Given the description of an element on the screen output the (x, y) to click on. 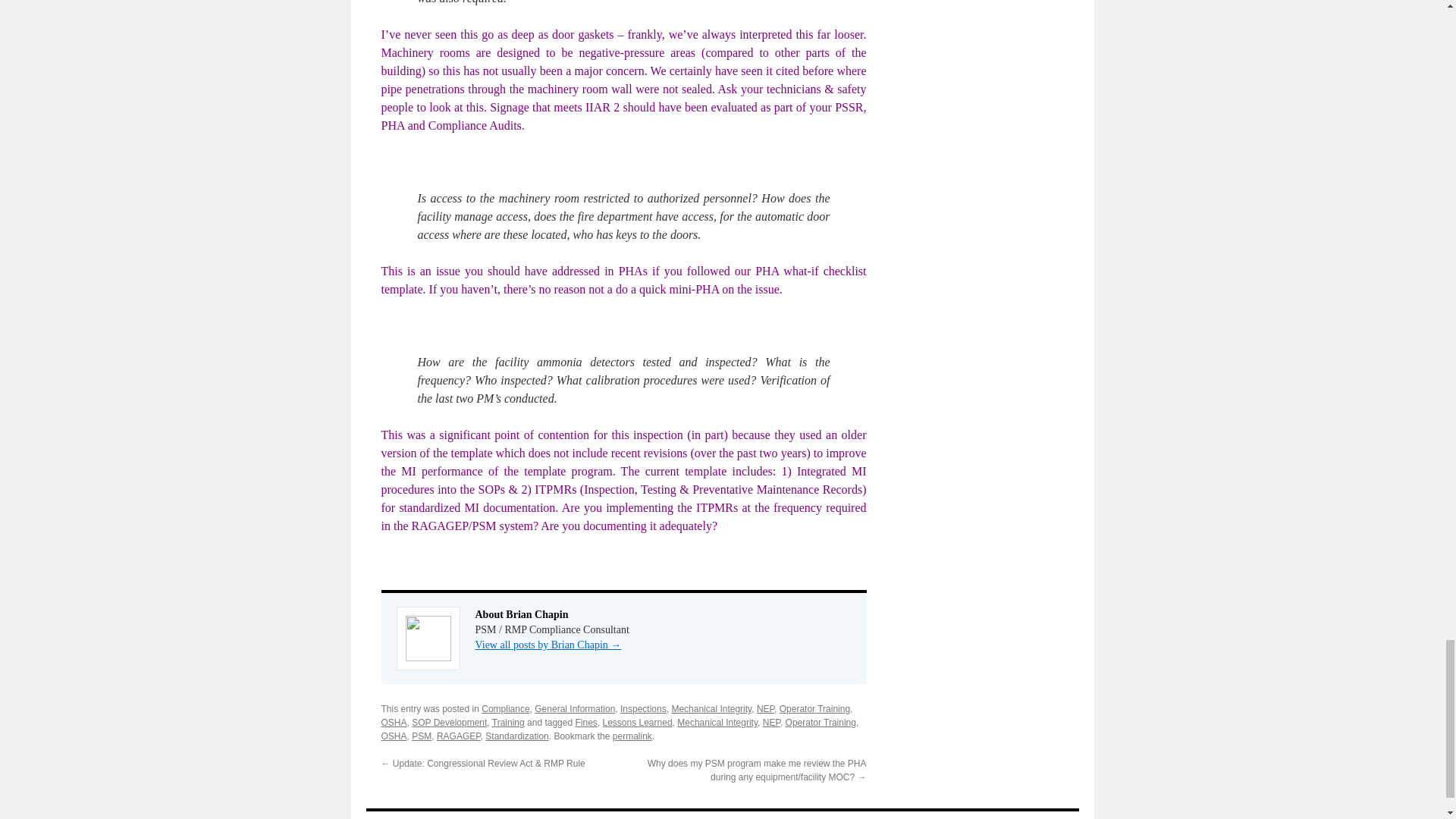
OSHA (393, 736)
OSHA (393, 722)
Fines (585, 722)
Compliance (505, 708)
NEP (765, 708)
Training (508, 722)
permalink (632, 736)
Operator Training (821, 722)
Operator Training (814, 708)
Mechanical Integrity (711, 708)
Lessons Learned (636, 722)
NEP (771, 722)
Standardization (516, 736)
Mechanical Integrity (717, 722)
